Given the description of an element on the screen output the (x, y) to click on. 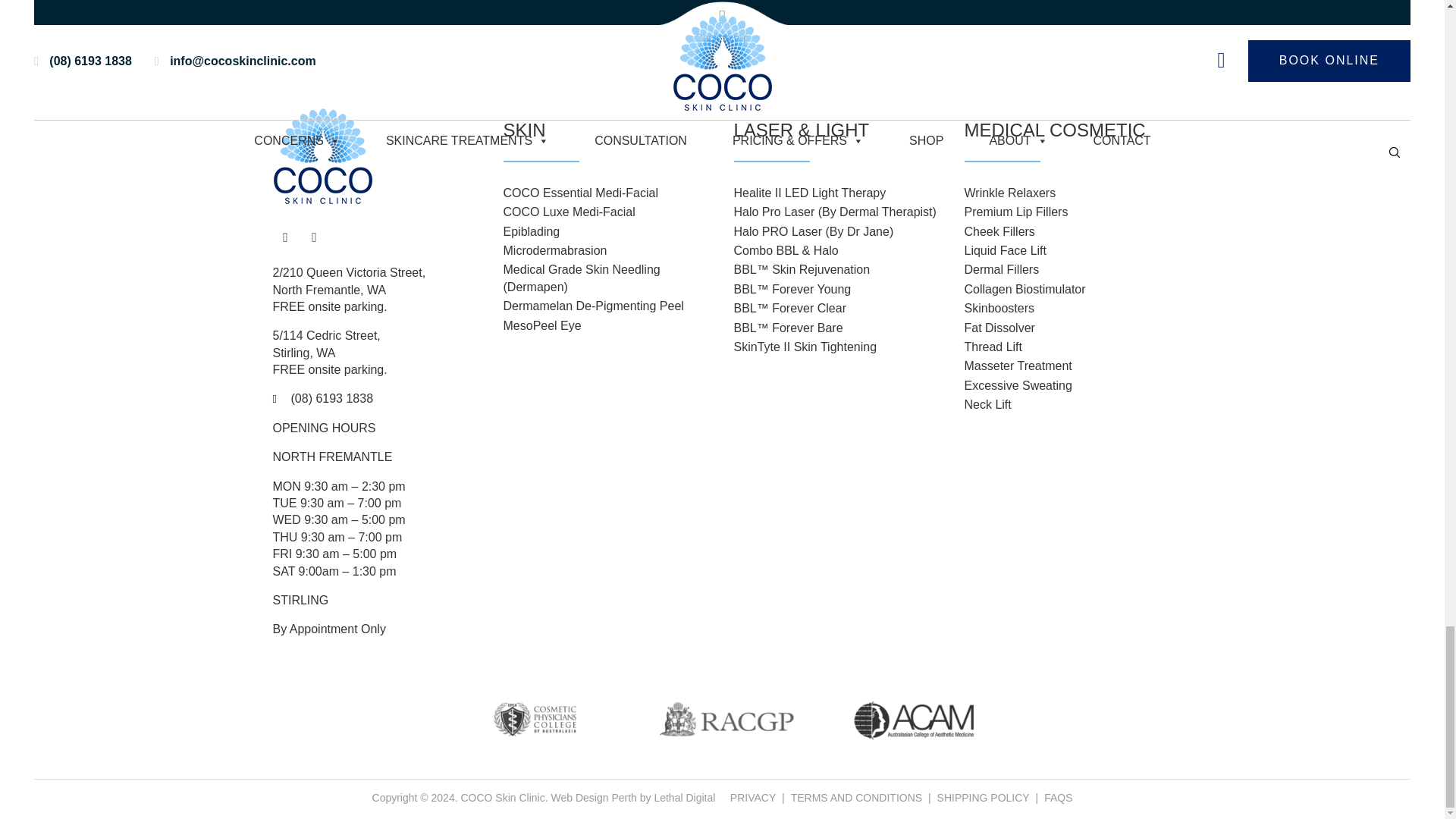
Facebook (285, 236)
Back to top (721, 23)
Instagram (314, 236)
